Given the description of an element on the screen output the (x, y) to click on. 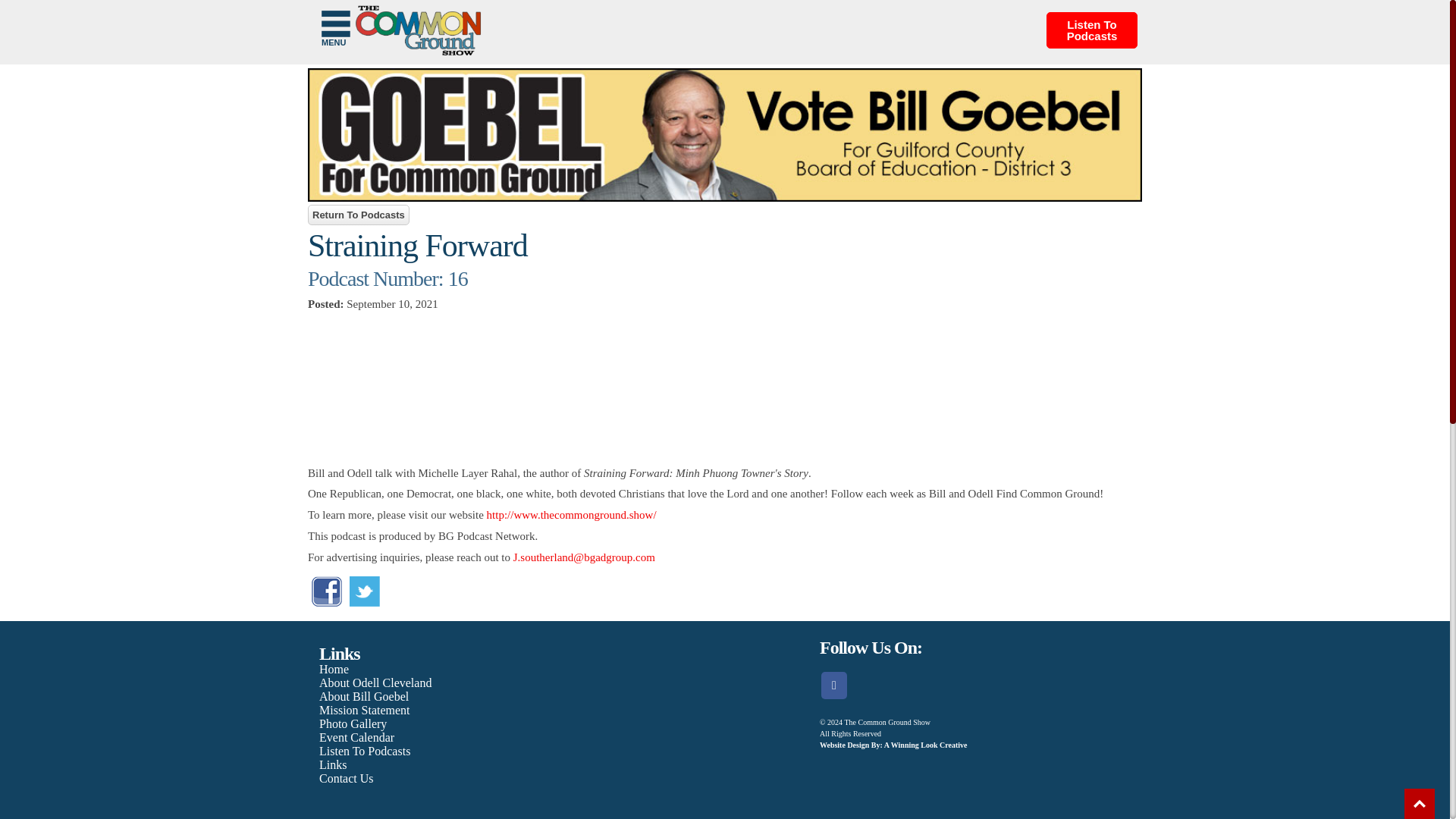
Facebook (326, 602)
Links (332, 764)
Listen To Podcasts (1091, 30)
Event Calendar (356, 737)
Website Design By: A Winning Look Creative (892, 745)
About Bill Goebel (363, 696)
Common Ground: Straining Forward (724, 388)
Return To Podcasts (358, 214)
Home (333, 668)
Listen To Podcasts (364, 750)
Twitter (364, 591)
Contact Us (346, 778)
Mission Statement (364, 709)
About Odell Cleveland (374, 682)
Photo Gallery (352, 723)
